Given the description of an element on the screen output the (x, y) to click on. 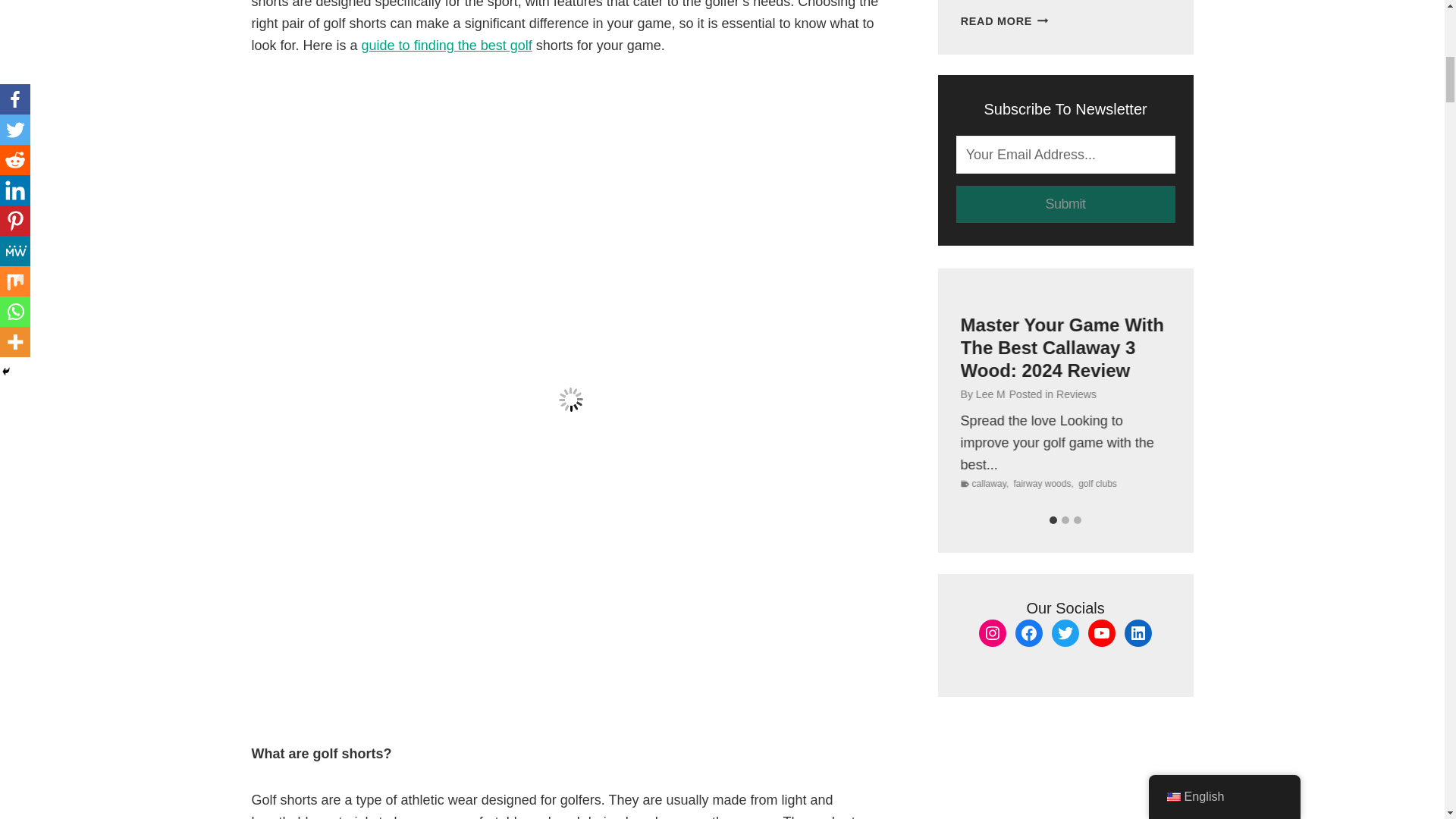
guide to finding the best golf (446, 45)
